Given the description of an element on the screen output the (x, y) to click on. 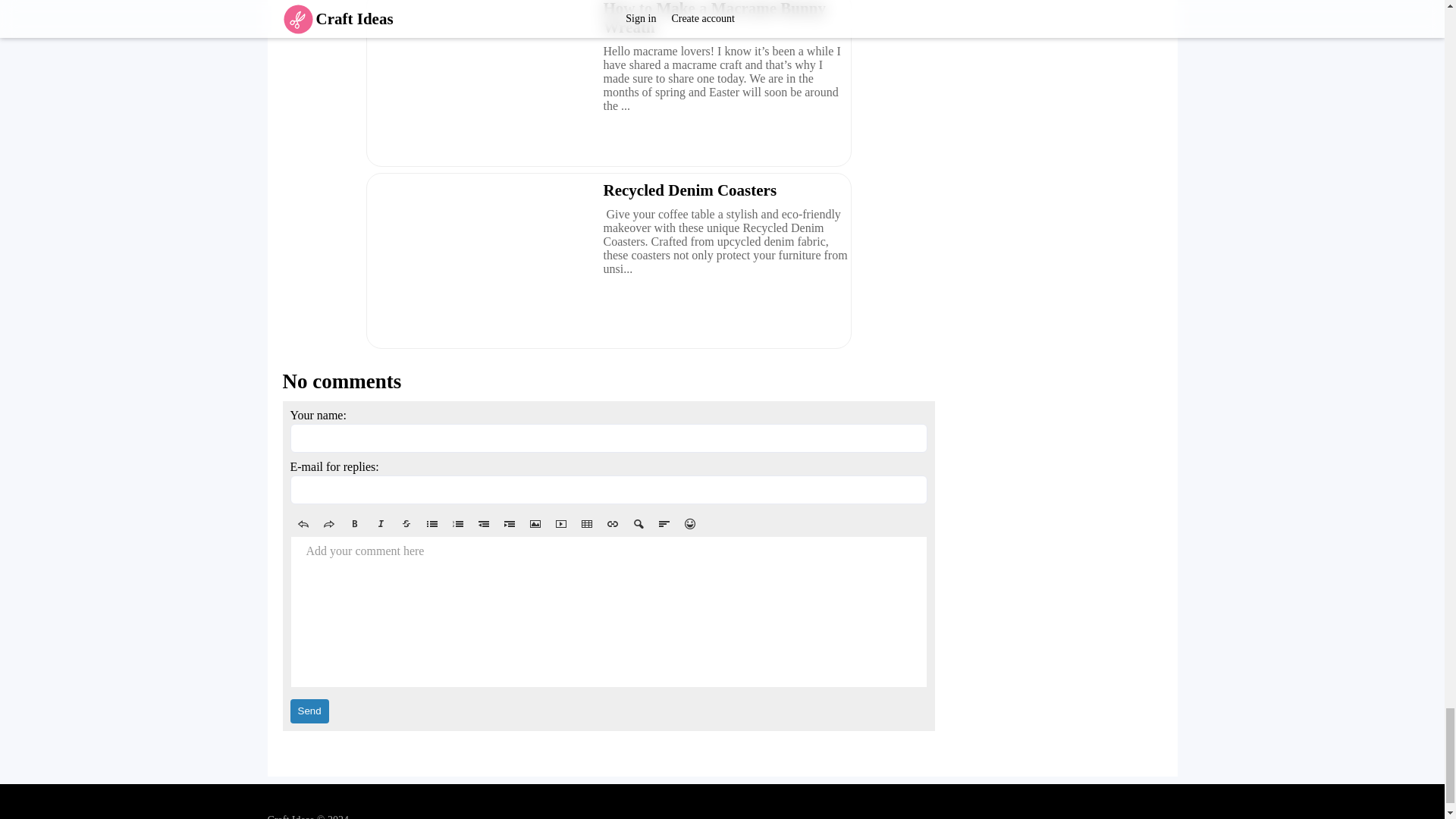
Link (611, 523)
Table (585, 523)
Send (309, 711)
Bold (353, 523)
Insert Video (560, 523)
Undo (302, 523)
Insert Image (534, 523)
1. Ordered List (457, 523)
Italic (379, 523)
Redo (327, 523)
